Given the description of an element on the screen output the (x, y) to click on. 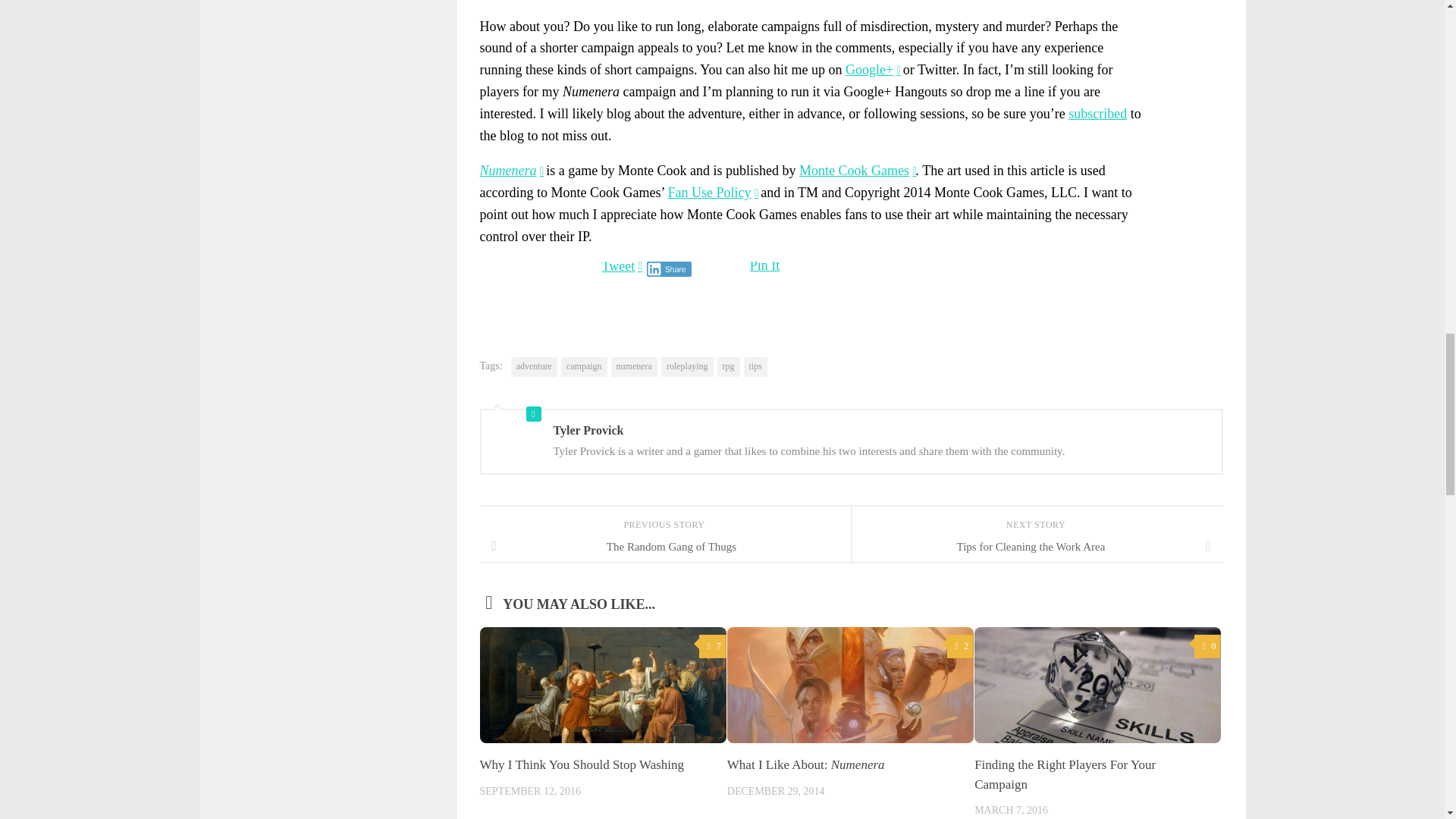
Numenera Official Site (510, 170)
Monte Cook Games' Fan Use Policy (712, 192)
Subscribe (1097, 113)
Monte Cook Games Official Website (857, 170)
My Google Plus Profile (872, 69)
